Given the description of an element on the screen output the (x, y) to click on. 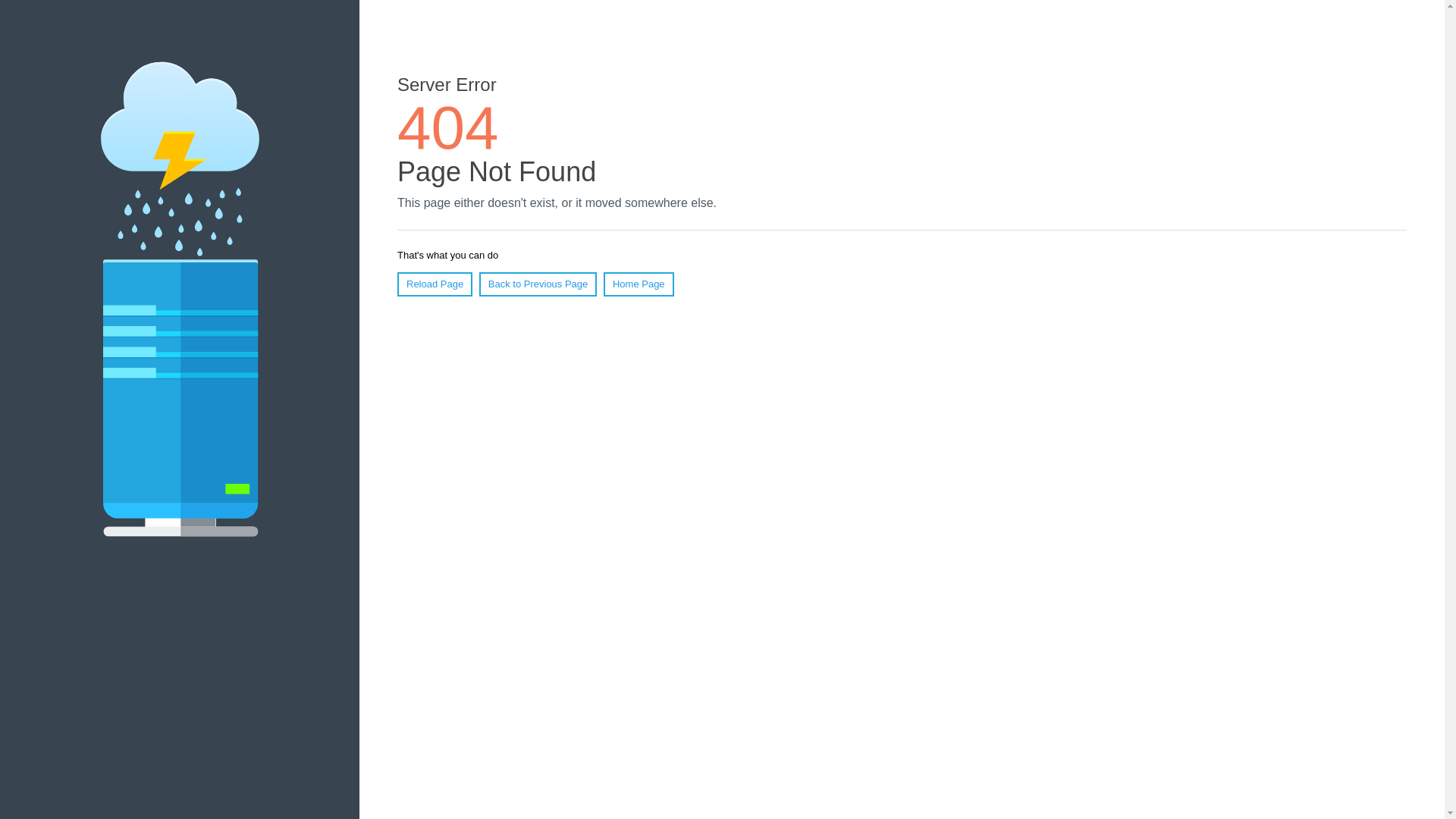
Home Page (639, 283)
Reload Page (434, 283)
Back to Previous Page (537, 283)
